Given the description of an element on the screen output the (x, y) to click on. 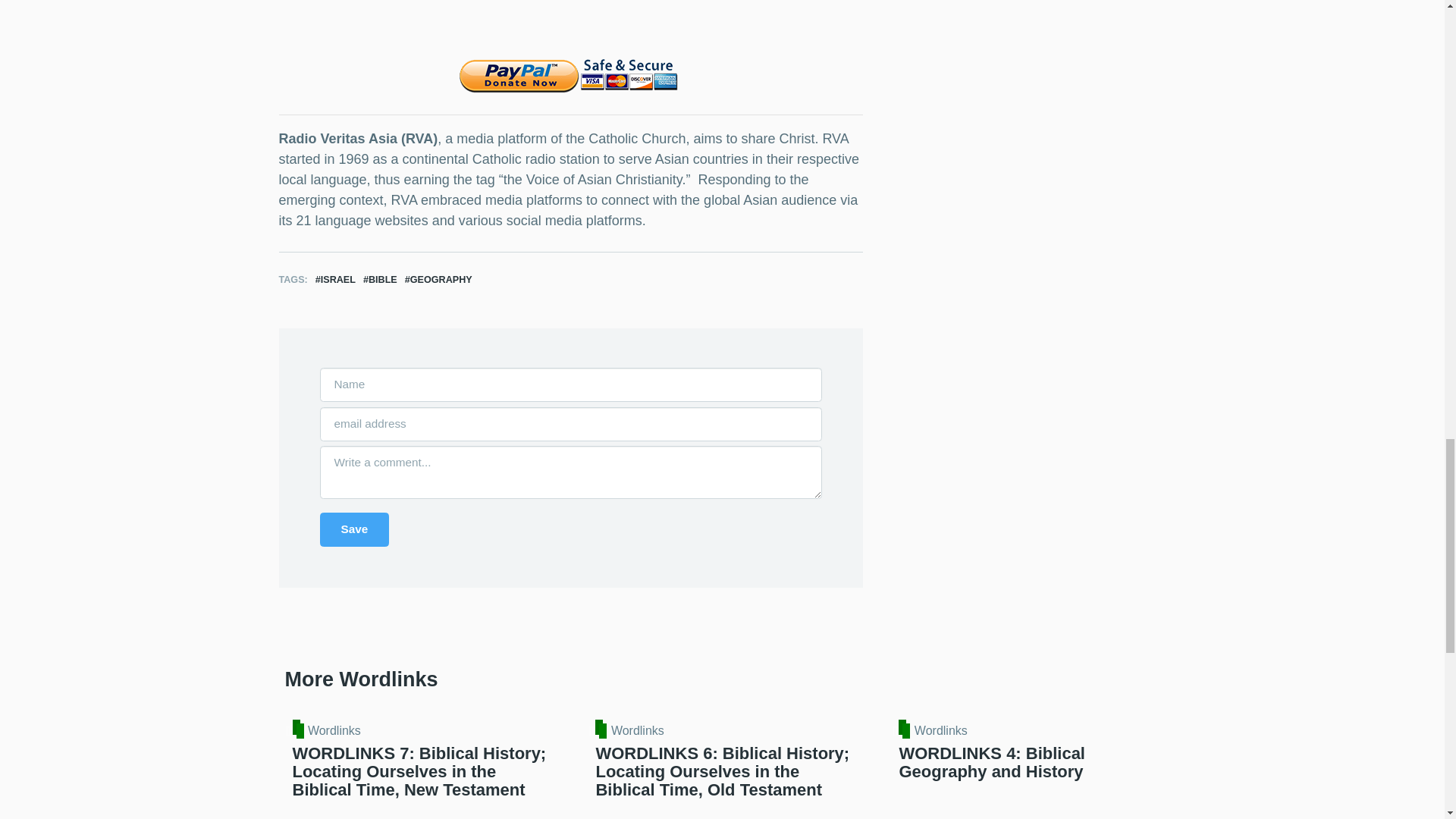
Save (355, 529)
PayPal - The safer, easier way to pay online! (569, 75)
